Given the description of an element on the screen output the (x, y) to click on. 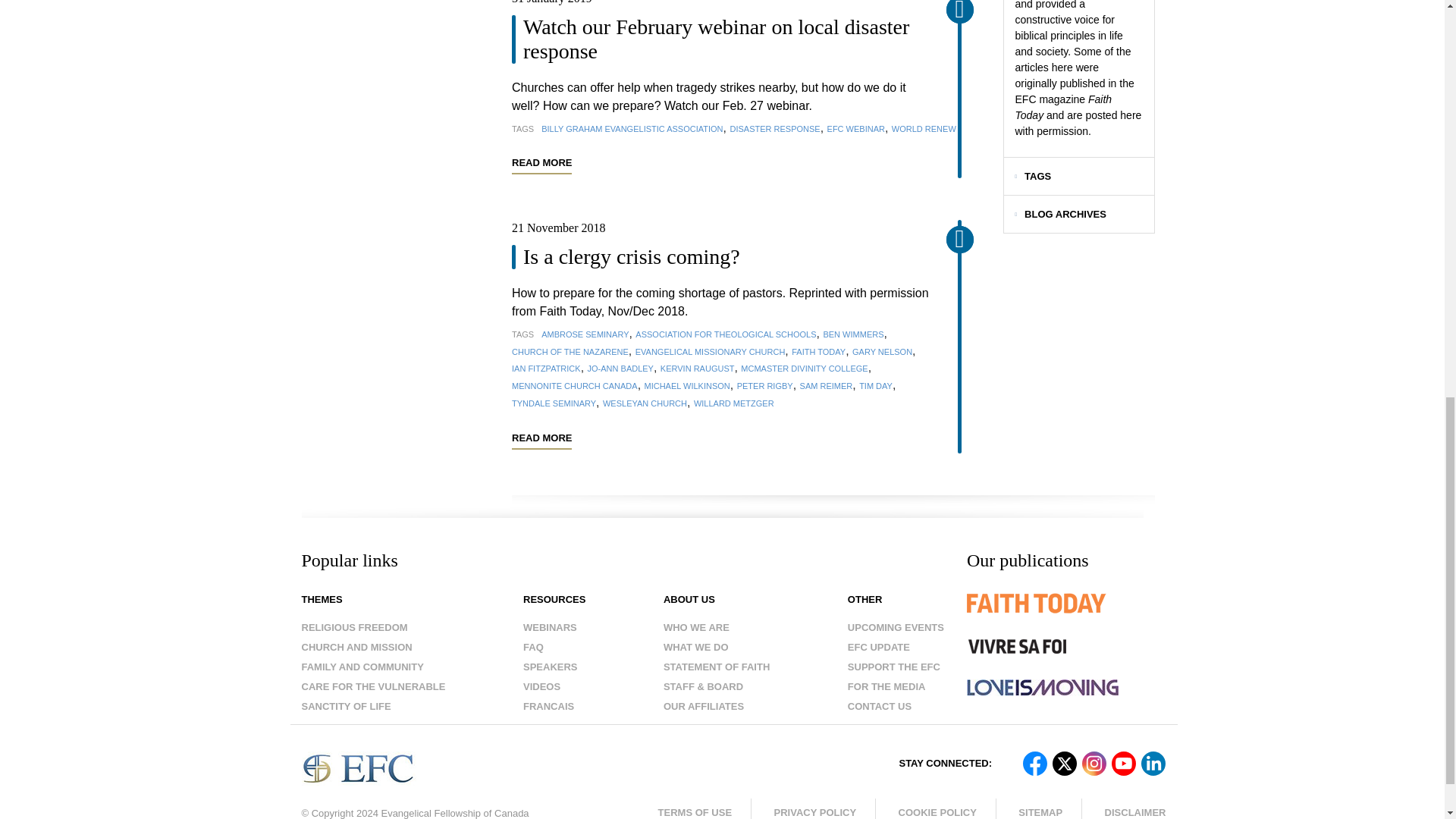
Love Is Moving (1042, 687)
Faith Today Magazine (1066, 613)
